Given the description of an element on the screen output the (x, y) to click on. 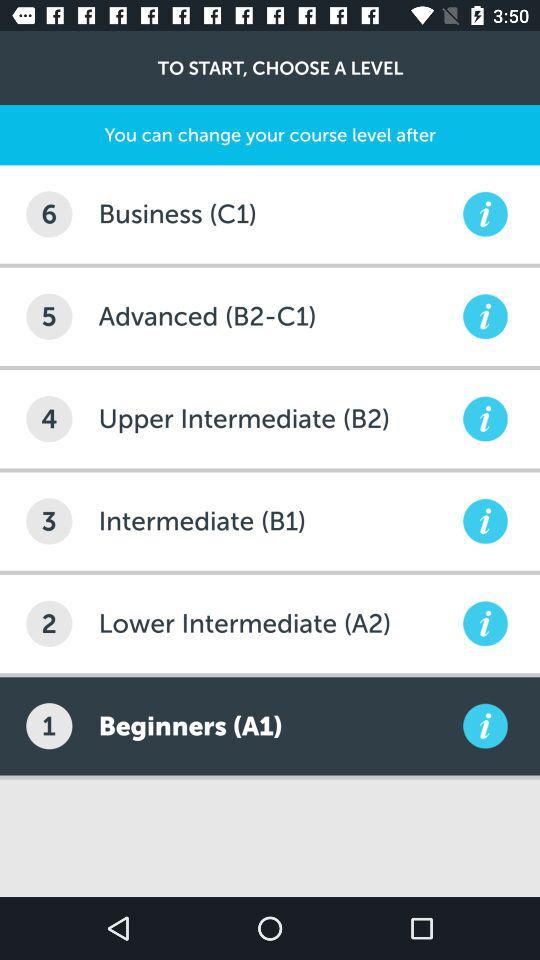
press 2 item (49, 623)
